Given the description of an element on the screen output the (x, y) to click on. 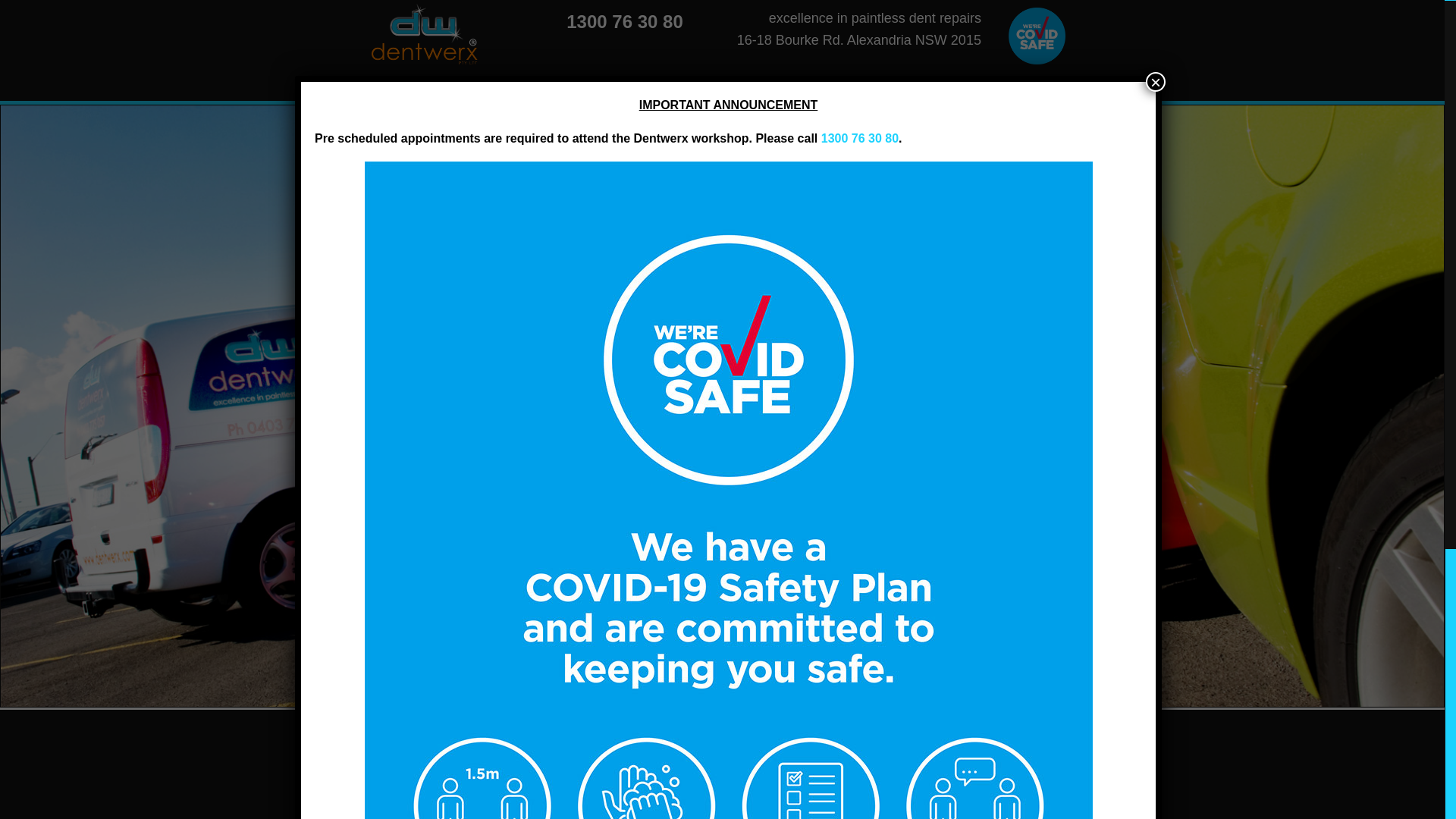
COMPANY OVERVIEW Element type: text (606, 92)
HOME Element type: text (524, 92)
GALLERY Element type: text (973, 92)
CONTACT US Element type: text (1044, 92)
1300 76 30 80 Element type: text (859, 137)
WHY DENTWERX? Element type: text (716, 92)
WHAT IS PDR? Element type: text (810, 92)
TESTIMONIALS Element type: text (898, 92)
